Given the description of an element on the screen output the (x, y) to click on. 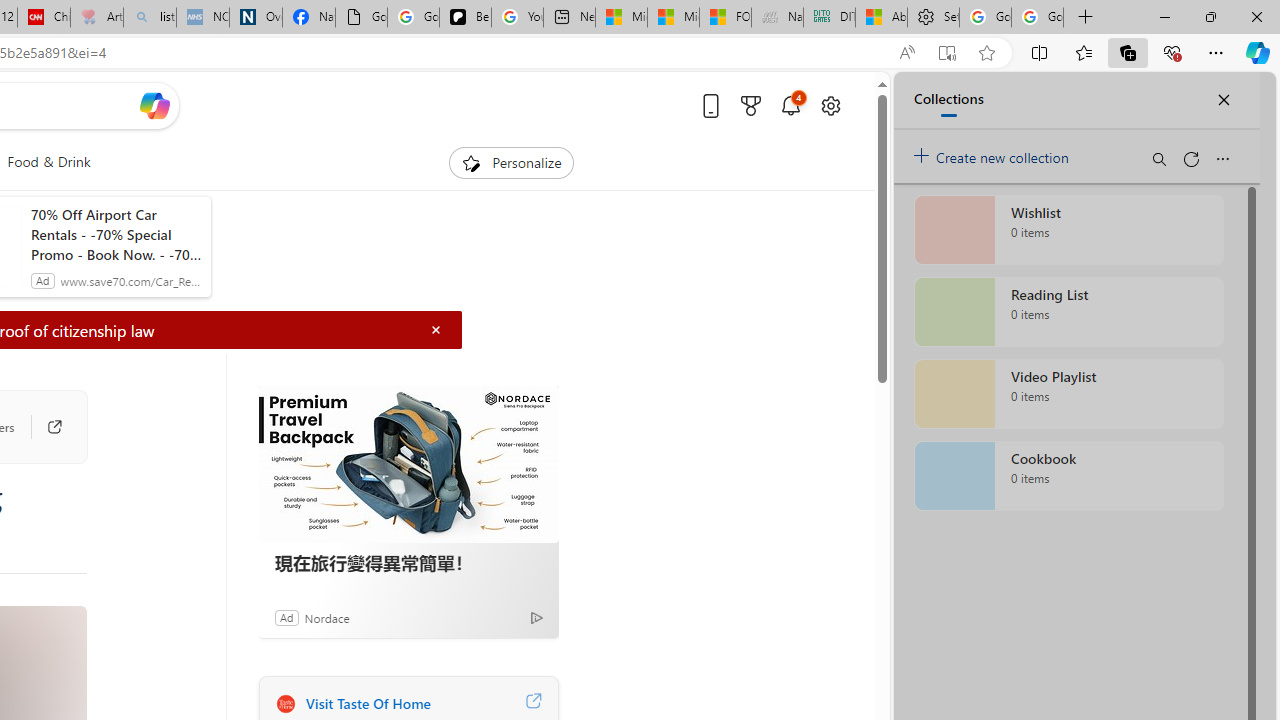
Food & Drink (48, 162)
www.save70.com/Car_Rentals/2024_New_Deals (131, 280)
Visit Taste of Home website (532, 703)
Arthritis: Ask Health Professionals - Sleeping (96, 17)
Google Analytics Opt-out Browser Add-on Download Page (360, 17)
